Given the description of an element on the screen output the (x, y) to click on. 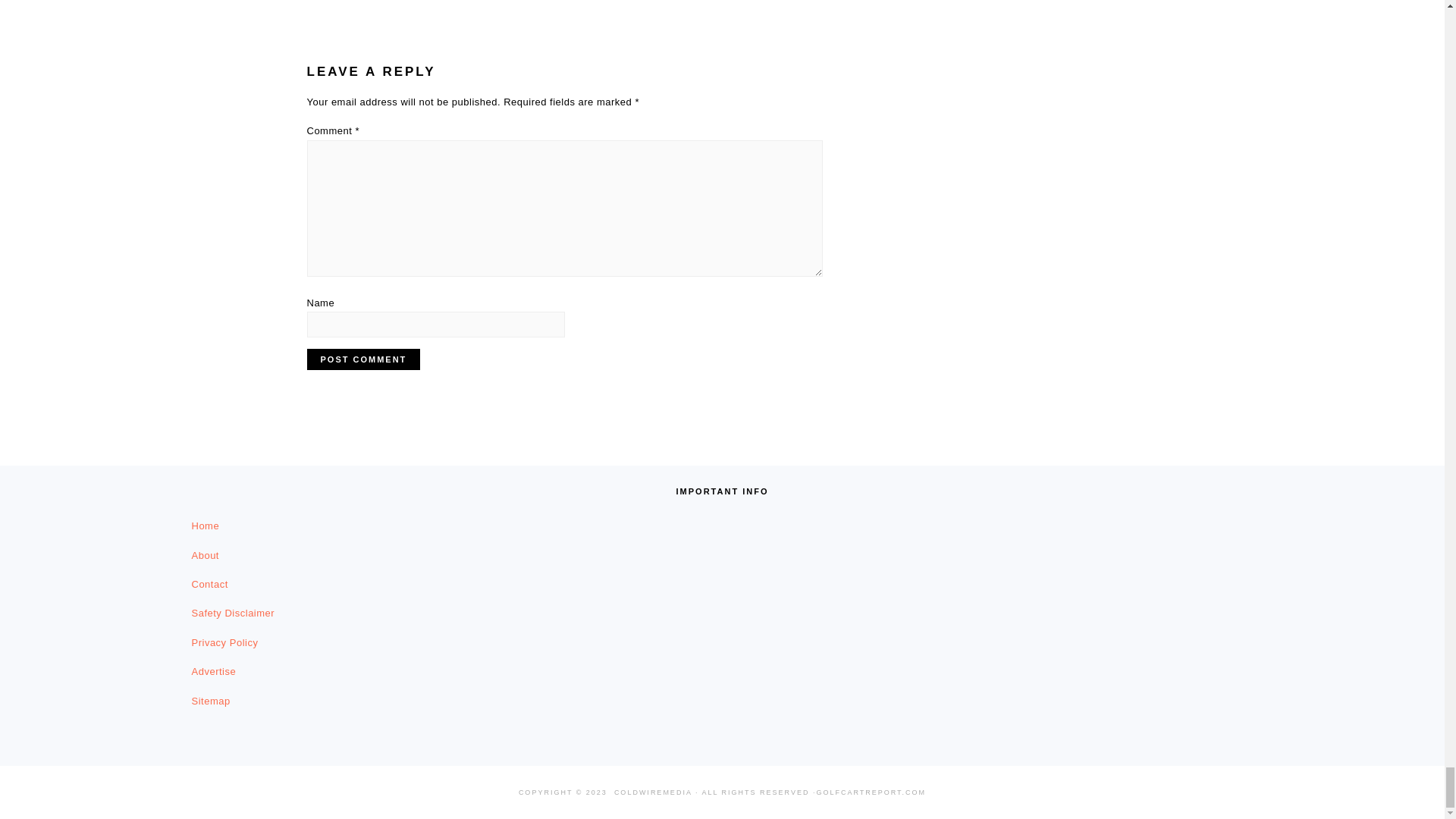
Post Comment (362, 359)
Contact (208, 583)
Safety Disclaimer (232, 613)
Post Comment (362, 359)
Home (204, 525)
About (204, 555)
